Given the description of an element on the screen output the (x, y) to click on. 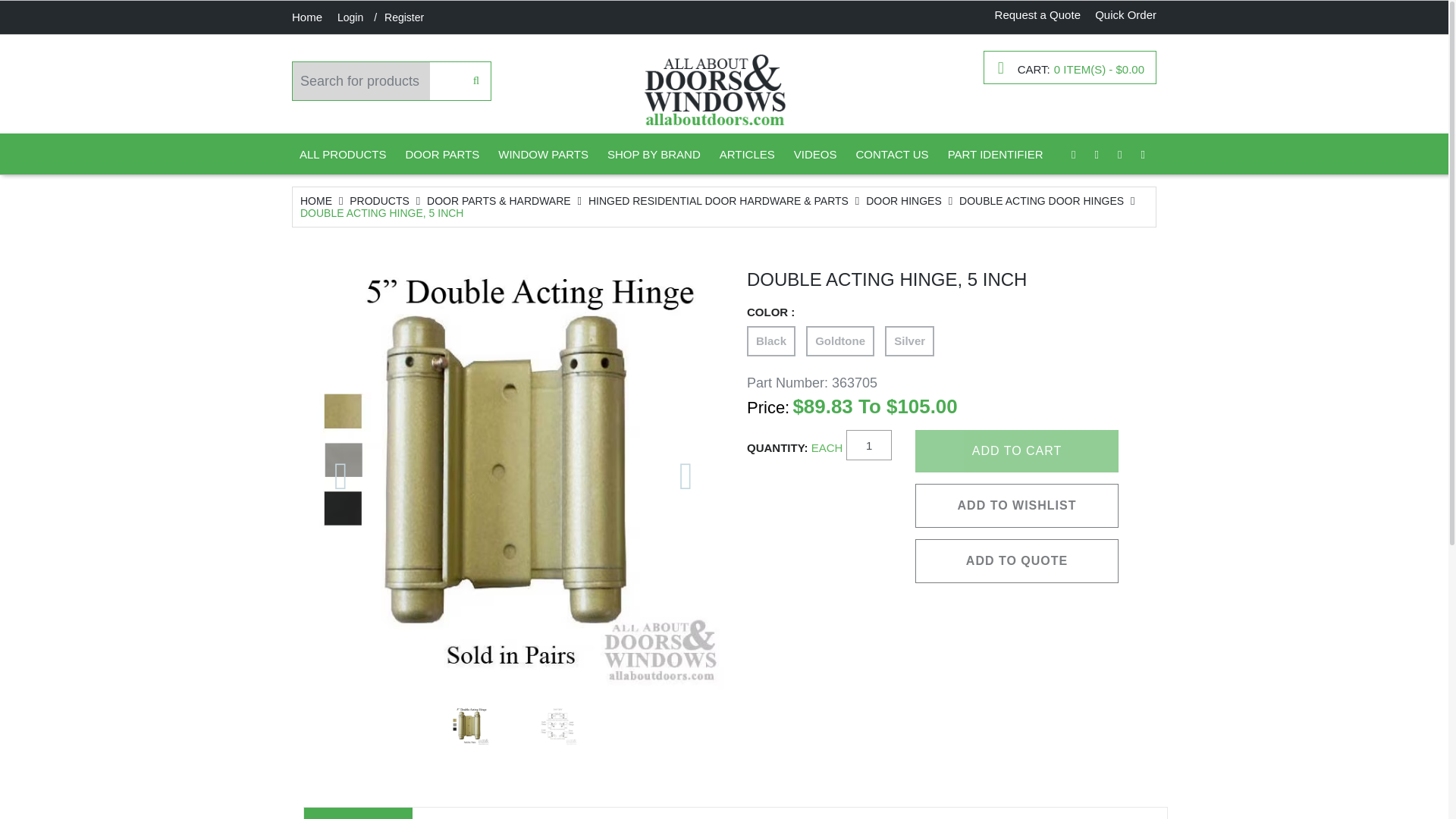
Home (306, 16)
DOOR PARTS (441, 154)
Login (350, 17)
Request a Quote (1039, 14)
All About Doors and Windows (713, 90)
Quick Order (1125, 14)
1 (868, 444)
Register (403, 17)
Quick Order (1125, 14)
Request a Quote (1039, 14)
